Given the description of an element on the screen output the (x, y) to click on. 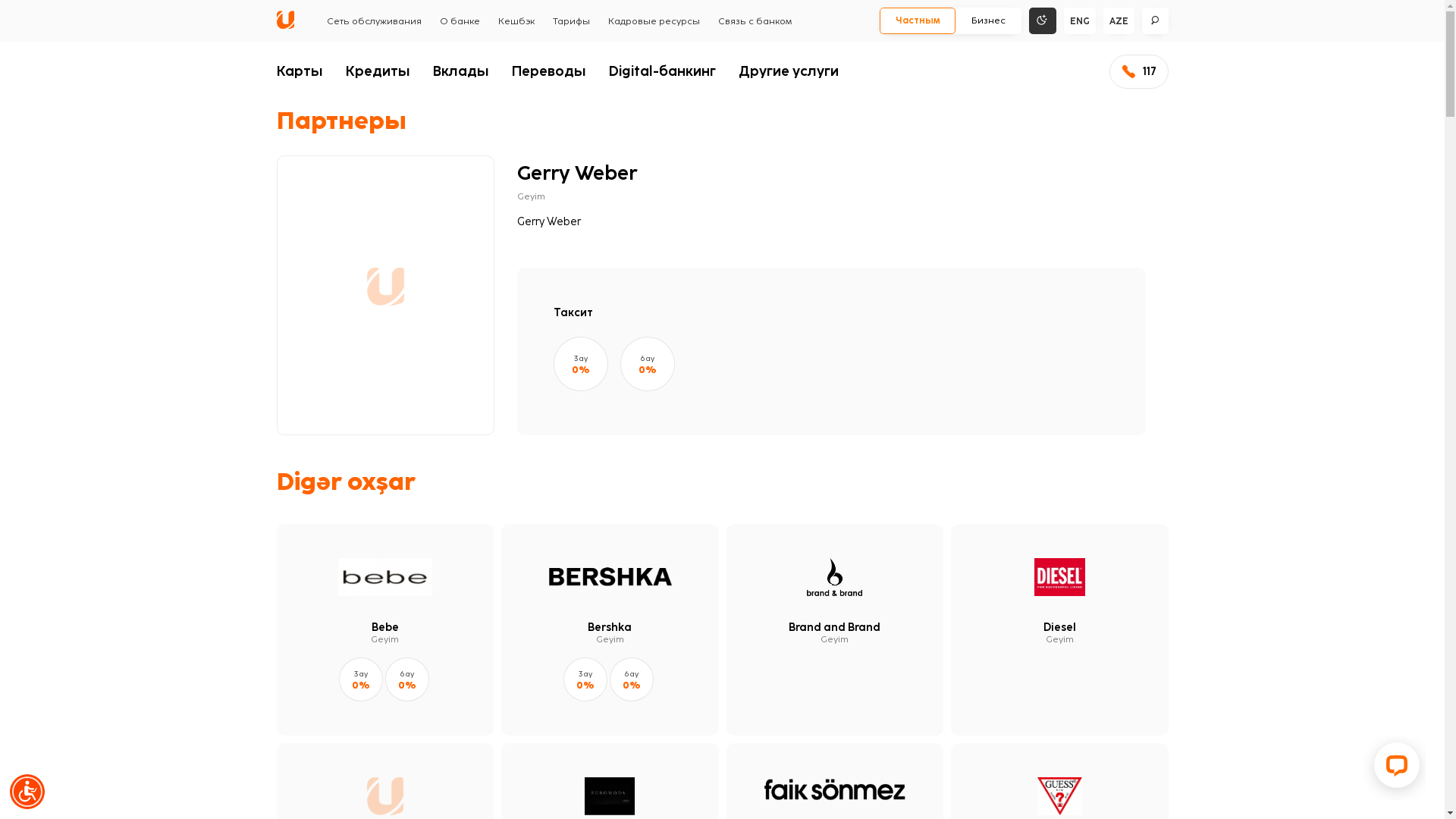
117 Element type: text (1137, 71)
AZE Element type: text (1117, 20)
LiveChat chat widget Element type: hover (1393, 768)
ENG Element type: text (1079, 20)
